Given the description of an element on the screen output the (x, y) to click on. 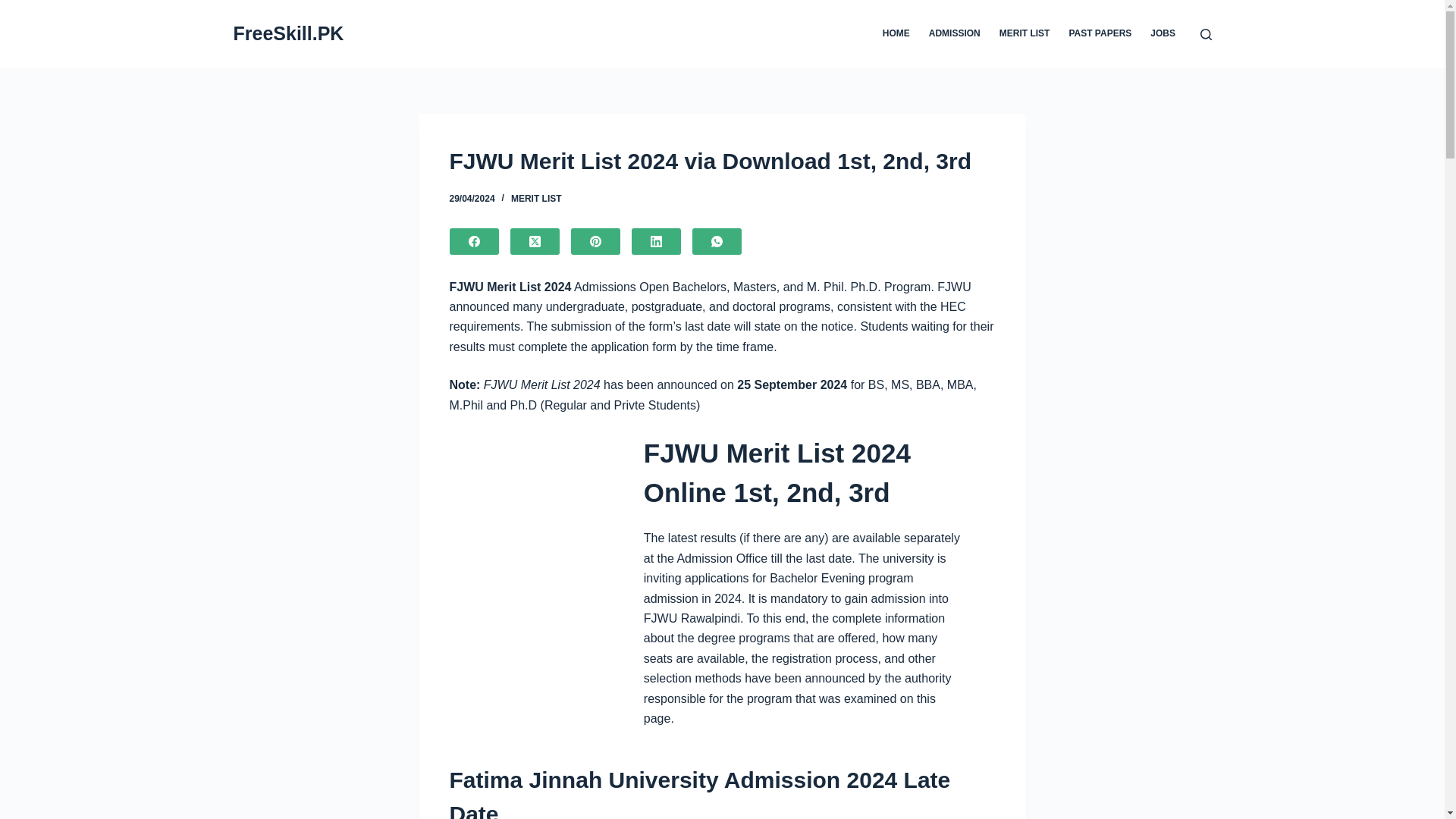
Skip to content (15, 7)
FreeSkill.PK (287, 33)
ADMISSION (954, 33)
MERIT LIST (1024, 33)
PAST PAPERS (1100, 33)
FJWU Merit List 2024 via  Download 1st, 2nd, 3rd (721, 161)
MERIT LIST (536, 198)
